Given the description of an element on the screen output the (x, y) to click on. 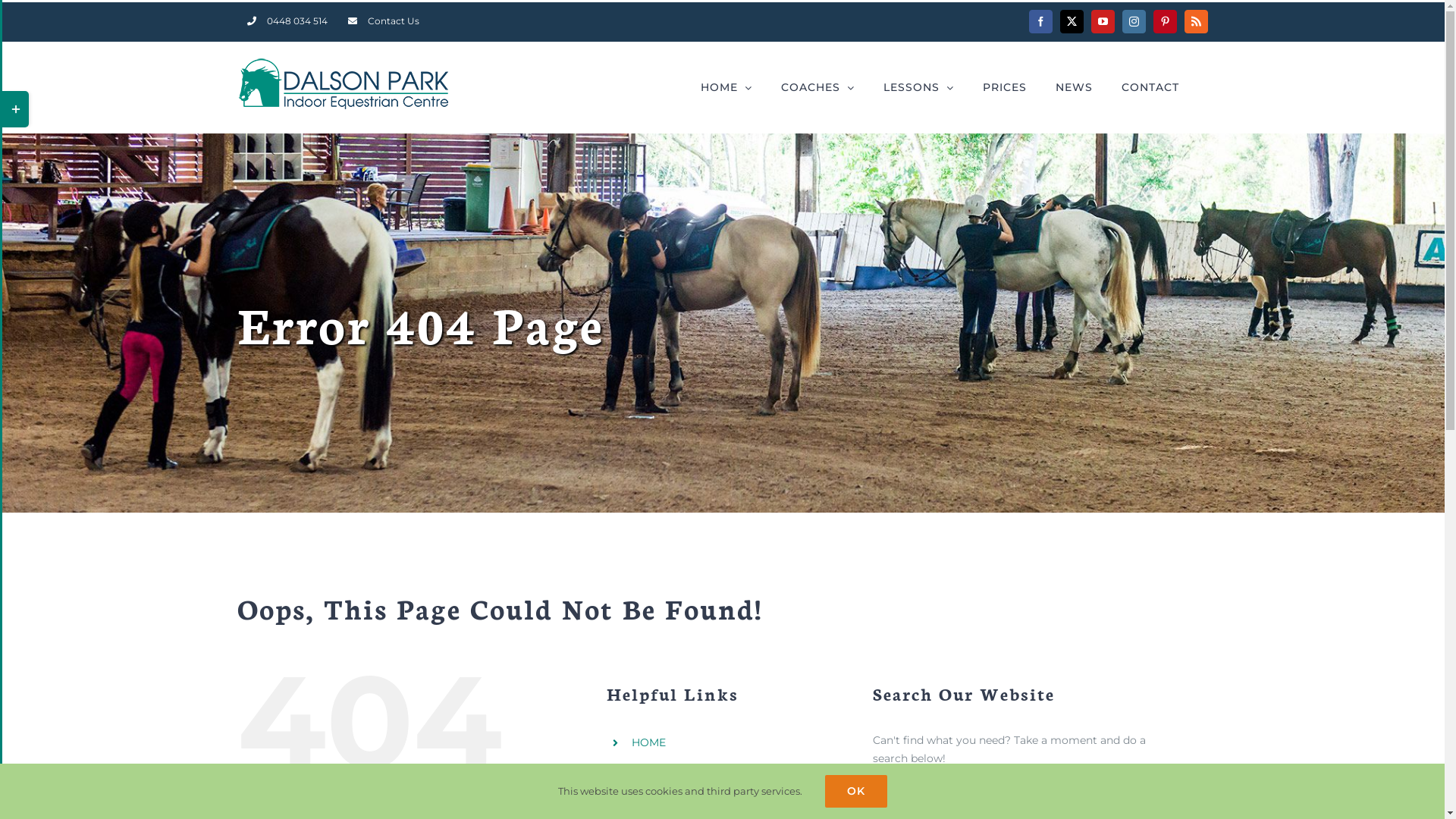
CONTACT Element type: text (1149, 86)
COACHES Element type: text (658, 768)
NEWS Element type: text (1073, 86)
PRICES Element type: text (1004, 86)
HOME Element type: text (726, 86)
Facebook Element type: text (1039, 21)
OK Element type: text (856, 791)
Rss Element type: text (1196, 21)
Pinterest Element type: text (1164, 21)
HOME Element type: text (648, 742)
Instagram Element type: text (1133, 21)
0448 034 514 Element type: text (286, 21)
Twitter Element type: text (1071, 21)
LESSONS Element type: text (656, 793)
YouTube Element type: text (1101, 21)
Toggle Sliding Bar Area Element type: text (15, 109)
COACHES Element type: text (817, 86)
Contact Us Element type: text (383, 21)
LESSONS Element type: text (917, 86)
